Given the description of an element on the screen output the (x, y) to click on. 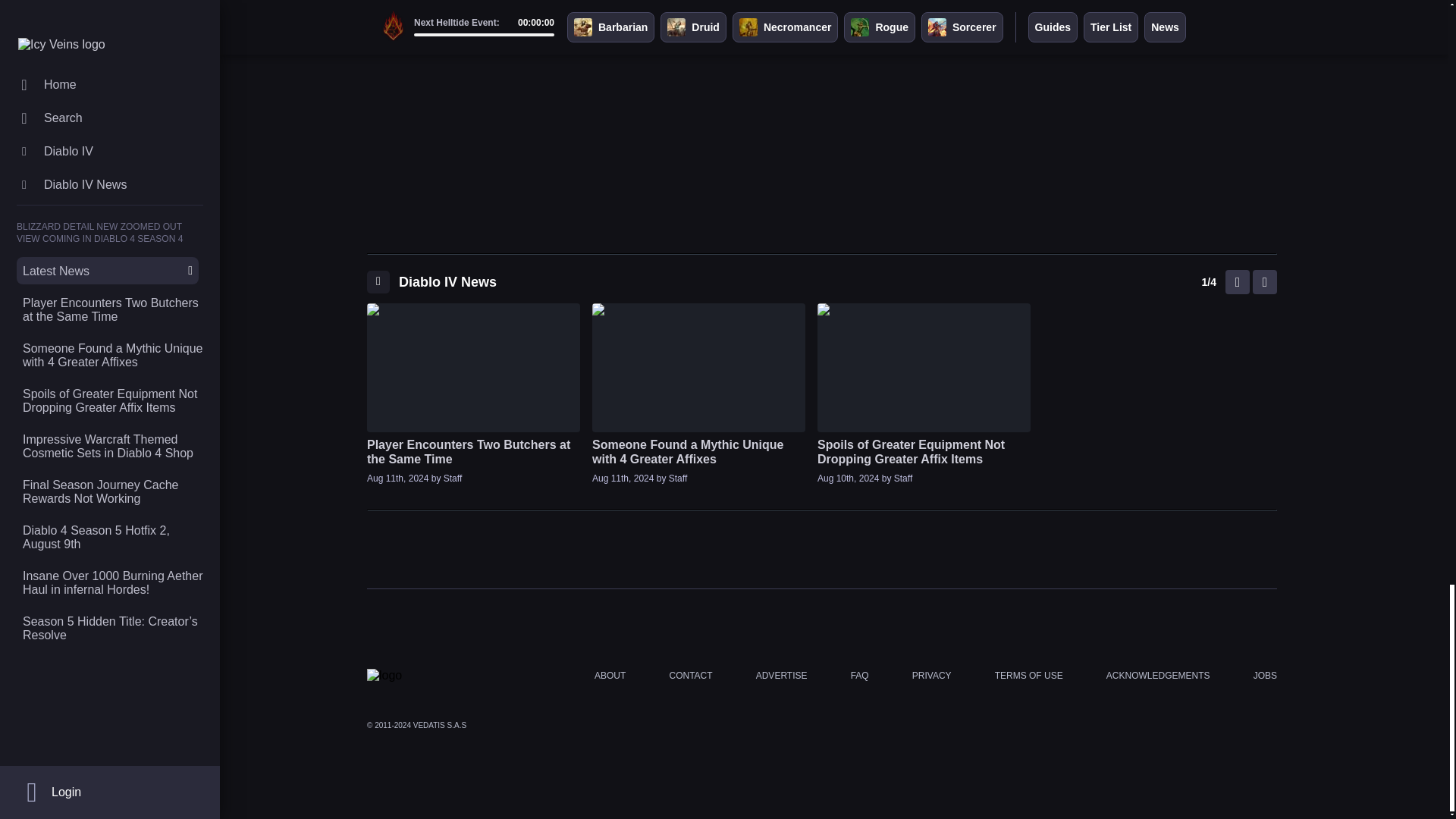
ABOUT (610, 675)
ADVERTISE (781, 675)
FAQ (859, 675)
CONTACT (689, 675)
